Given the description of an element on the screen output the (x, y) to click on. 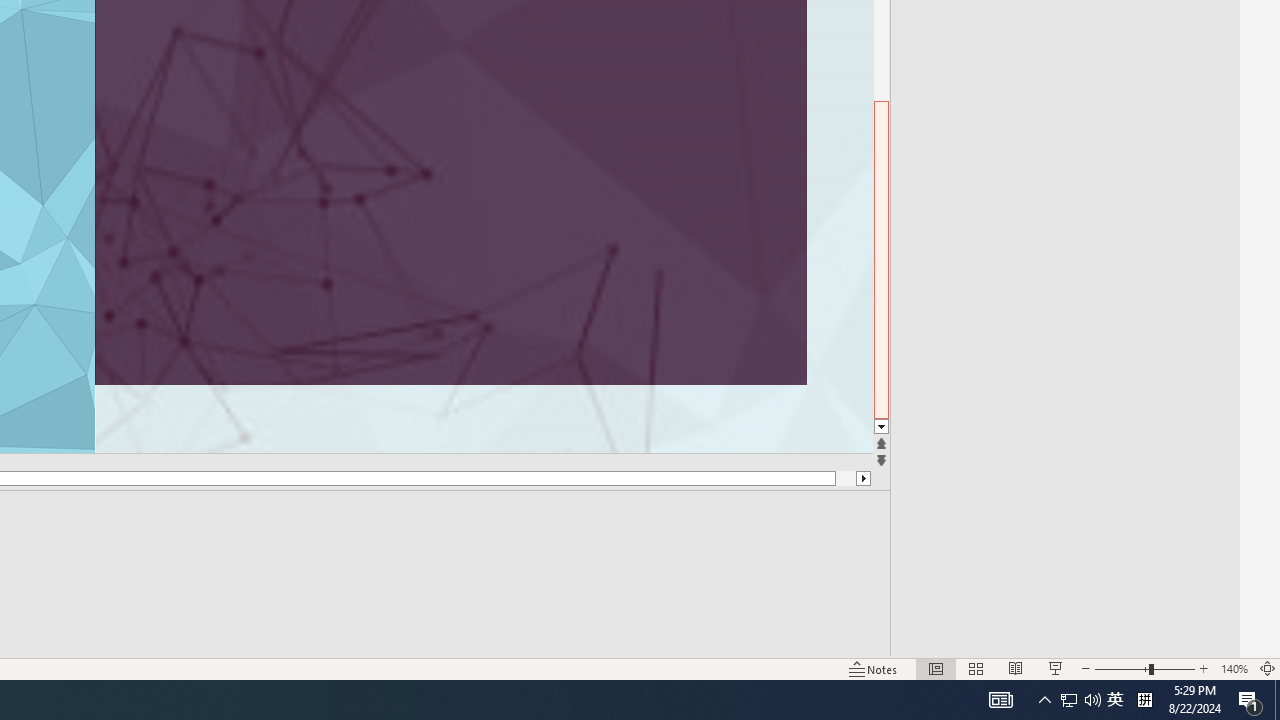
Zoom 140% (1234, 668)
